Given the description of an element on the screen output the (x, y) to click on. 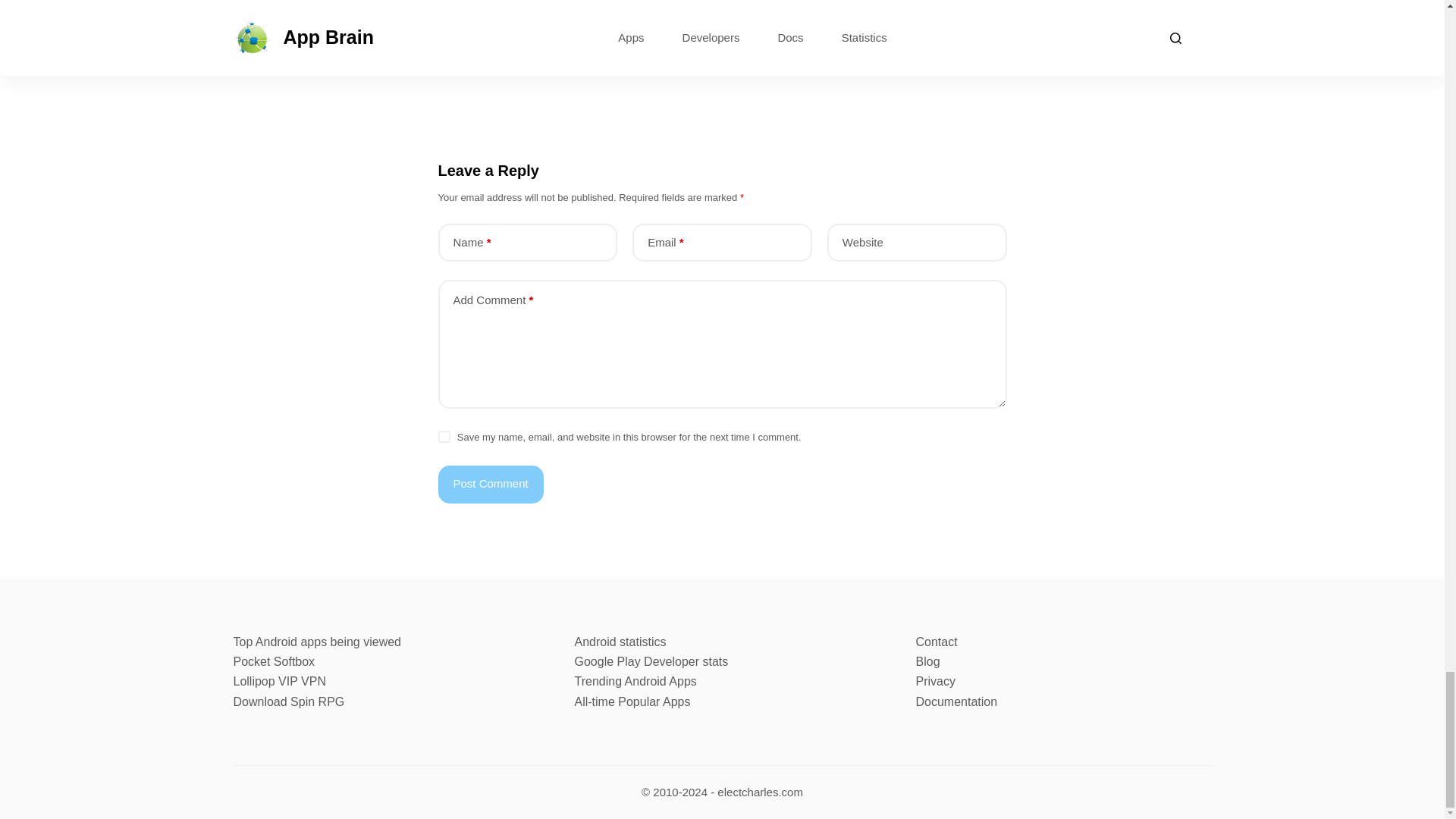
Post Comment (490, 484)
yes (443, 436)
